Given the description of an element on the screen output the (x, y) to click on. 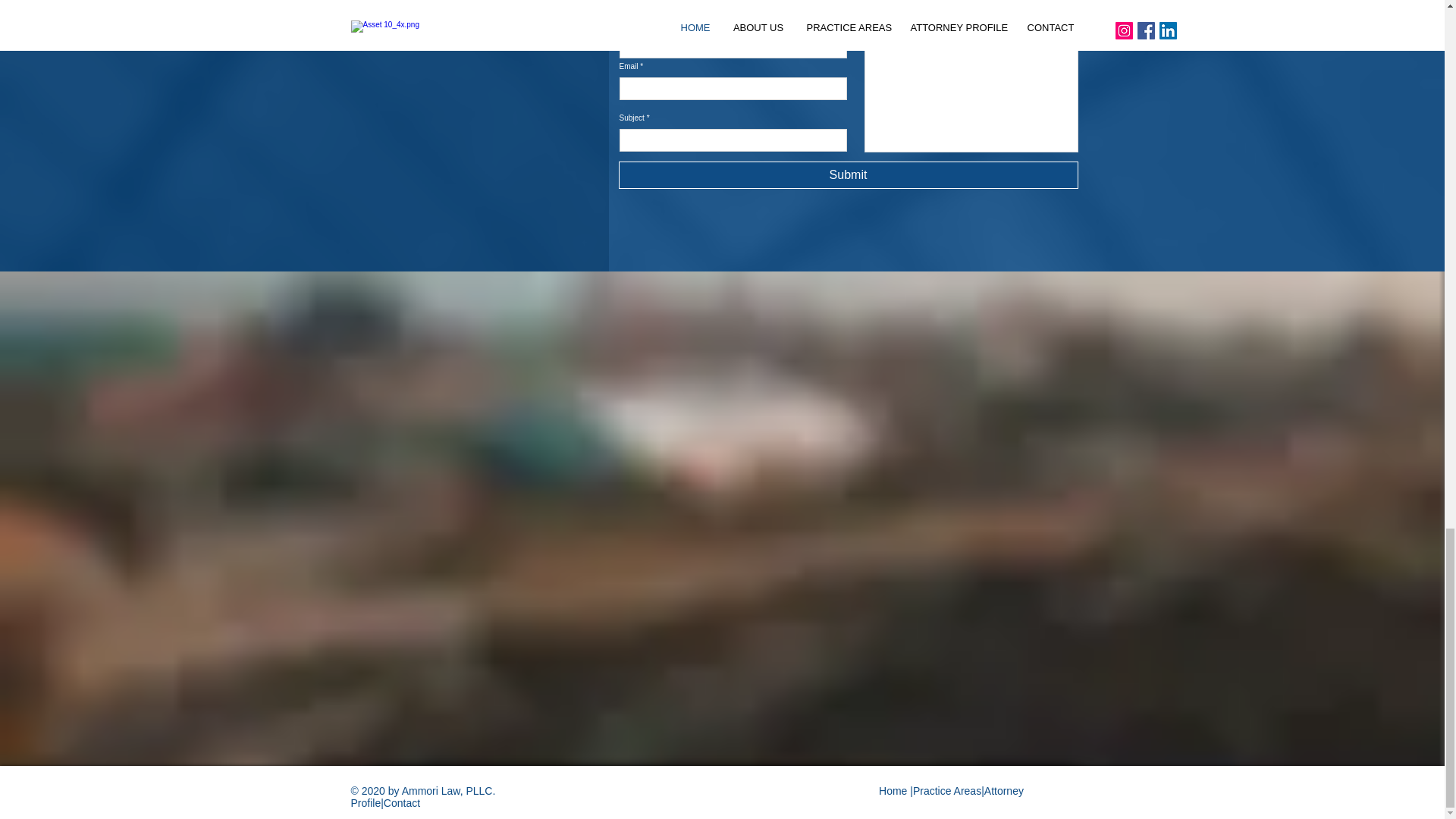
Home  (894, 790)
Contact (402, 802)
Submit (848, 175)
